Given the description of an element on the screen output the (x, y) to click on. 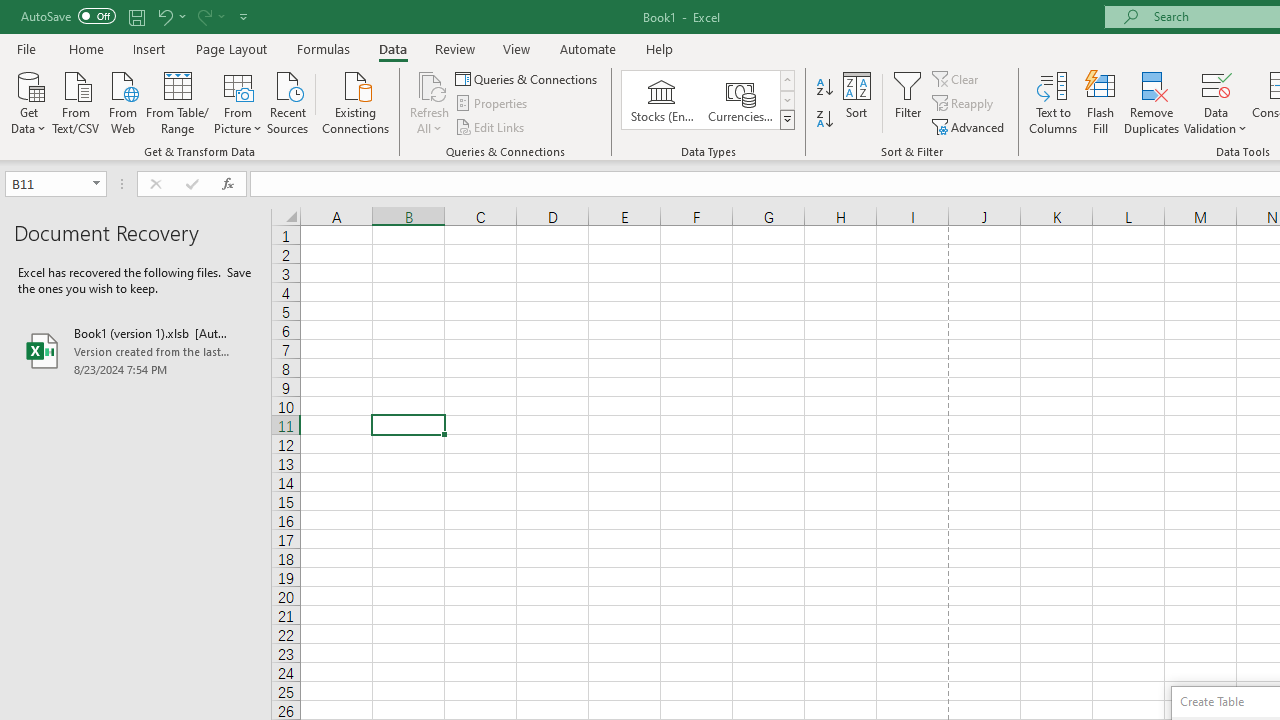
Remove Duplicates (1151, 102)
Filter (908, 102)
From Web (122, 101)
Advanced... (970, 126)
Sort... (856, 102)
Sort A to Z (824, 87)
Data Types (786, 120)
